Given the description of an element on the screen output the (x, y) to click on. 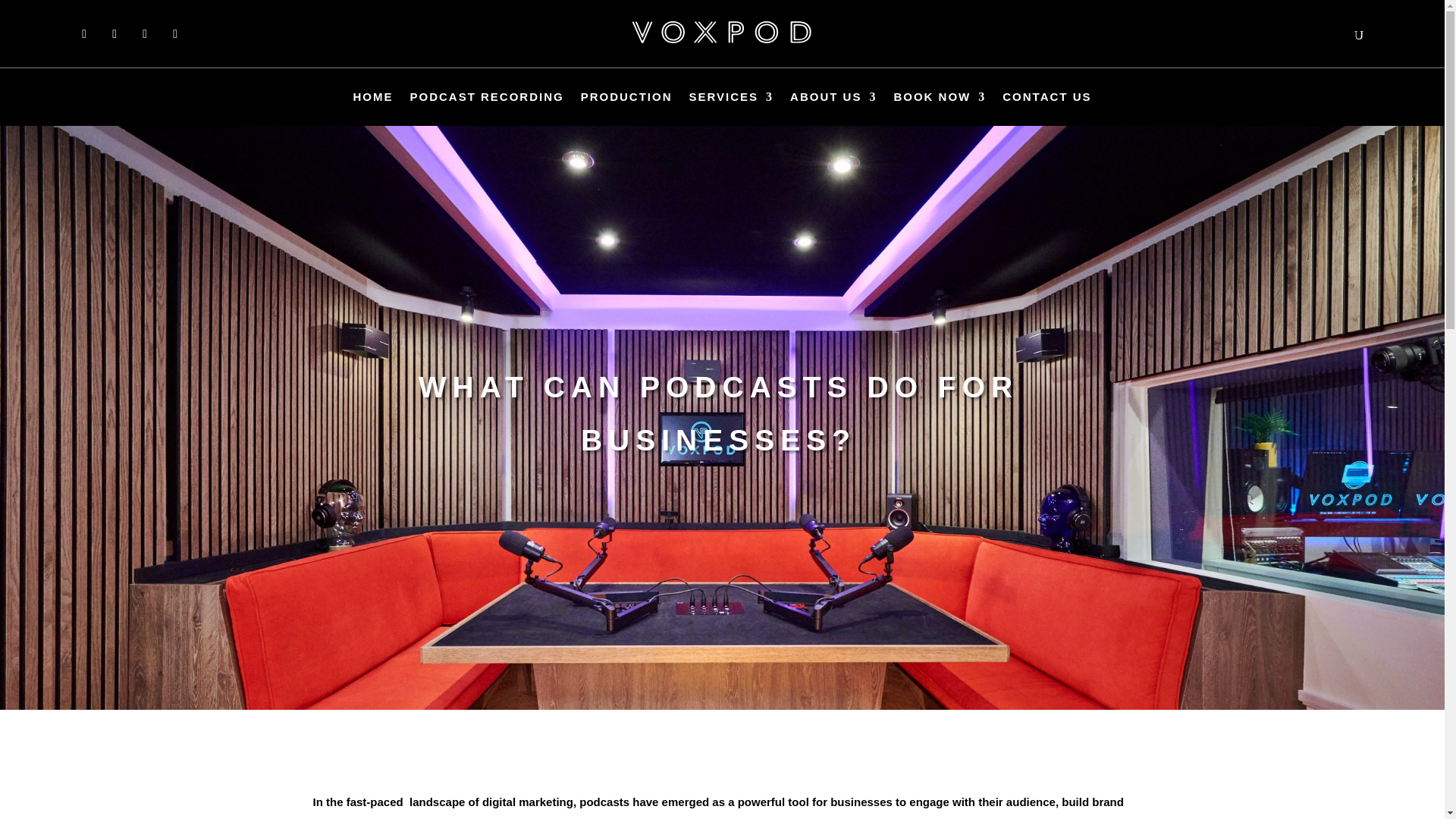
BOOK NOW (939, 83)
ABOUT US (833, 52)
Follow on Instagram (144, 33)
Follow on X (113, 33)
Follow on Facebook (83, 33)
CONTACT US (1046, 96)
Follow on Youtube (175, 33)
